Given the description of an element on the screen output the (x, y) to click on. 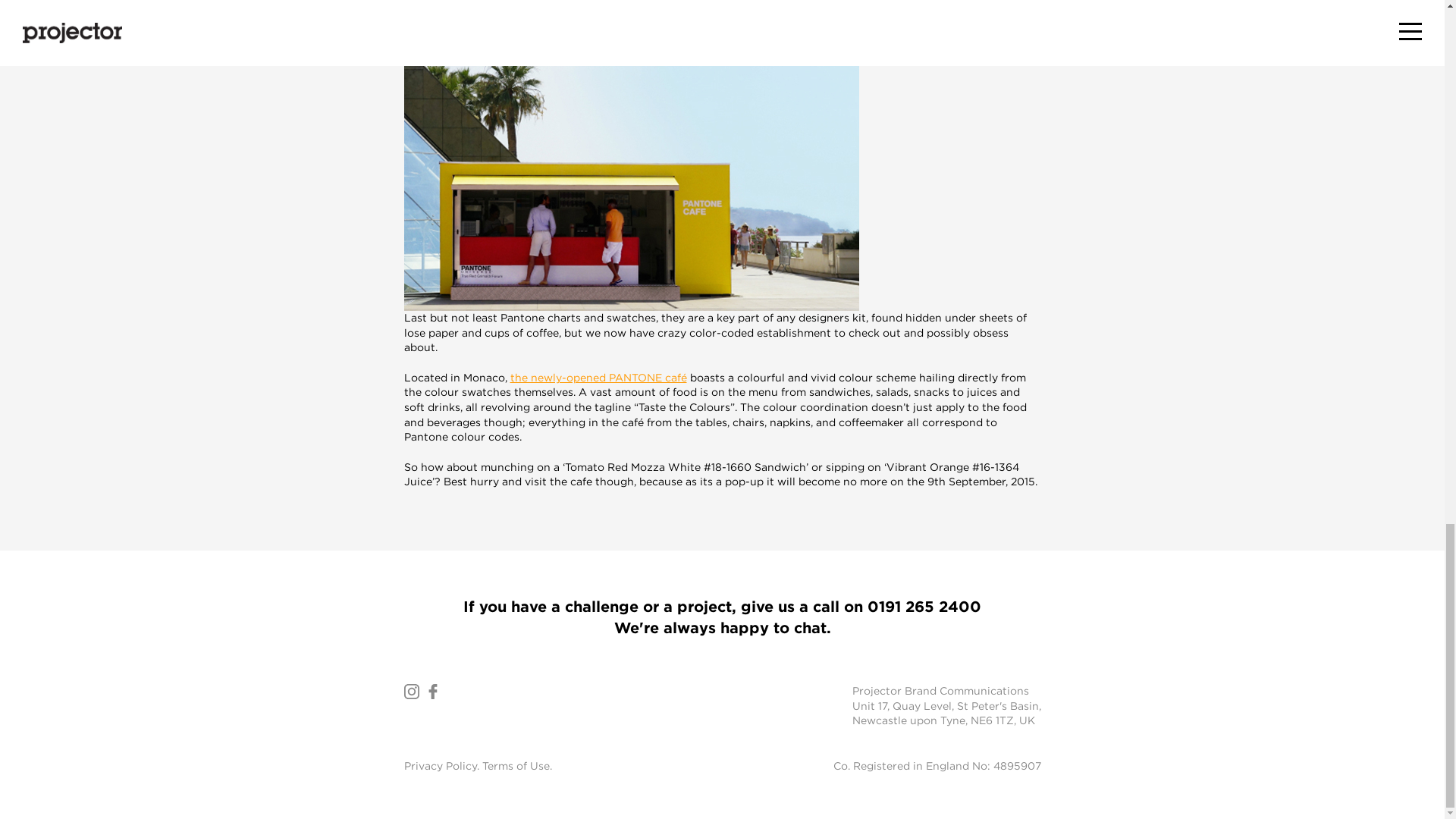
Privacy Policy (439, 766)
Terms of Use (515, 766)
